Given the description of an element on the screen output the (x, y) to click on. 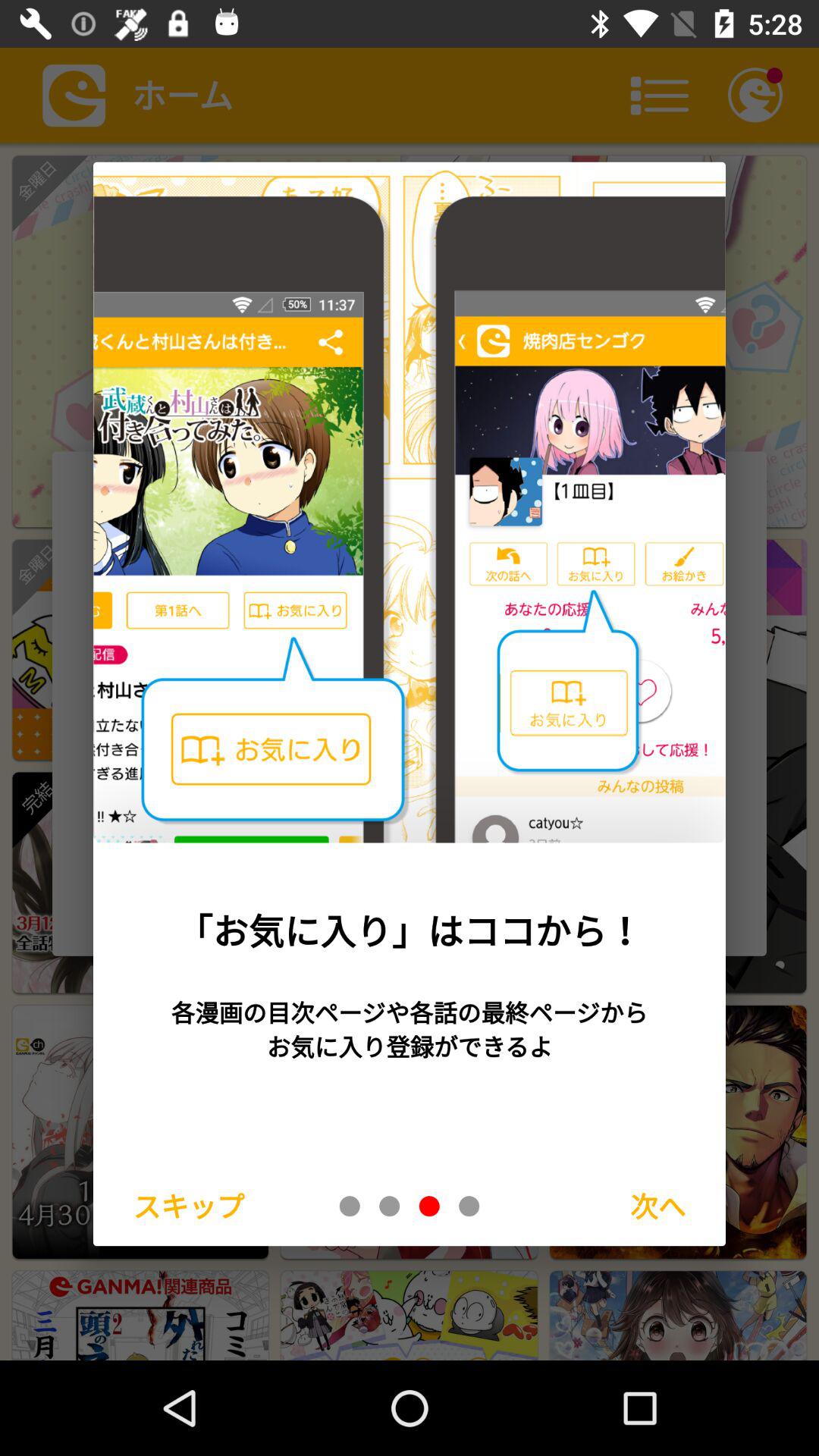
previous page (389, 1206)
